Given the description of an element on the screen output the (x, y) to click on. 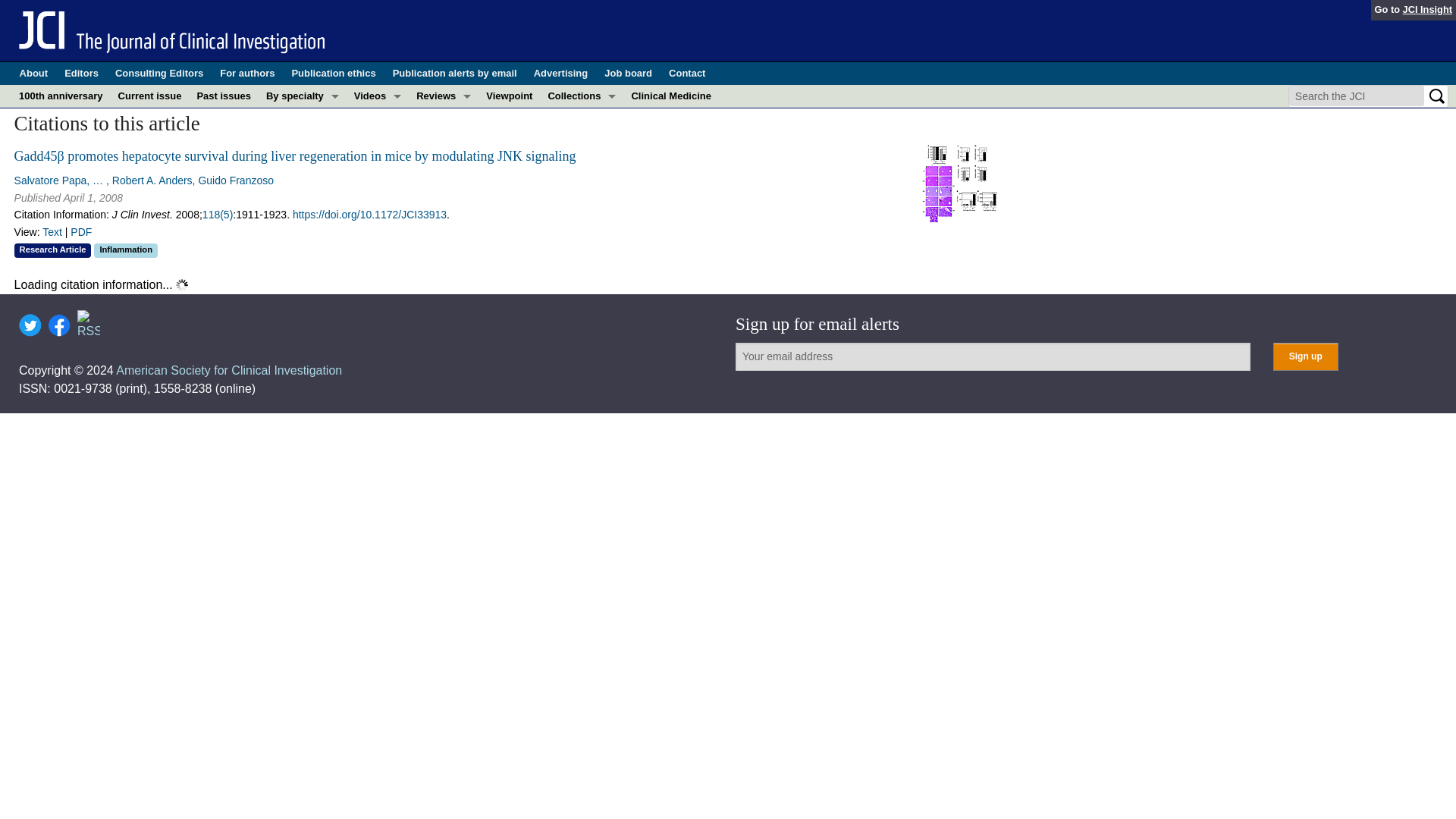
Oncology (302, 277)
All ... (302, 345)
Immunology (302, 187)
Facebook (58, 324)
Nephrology (302, 232)
Advertising (561, 73)
Neuroscience (302, 255)
Metabolism (302, 210)
Publication alerts by email (454, 73)
Gastroenterology (302, 164)
